Given the description of an element on the screen output the (x, y) to click on. 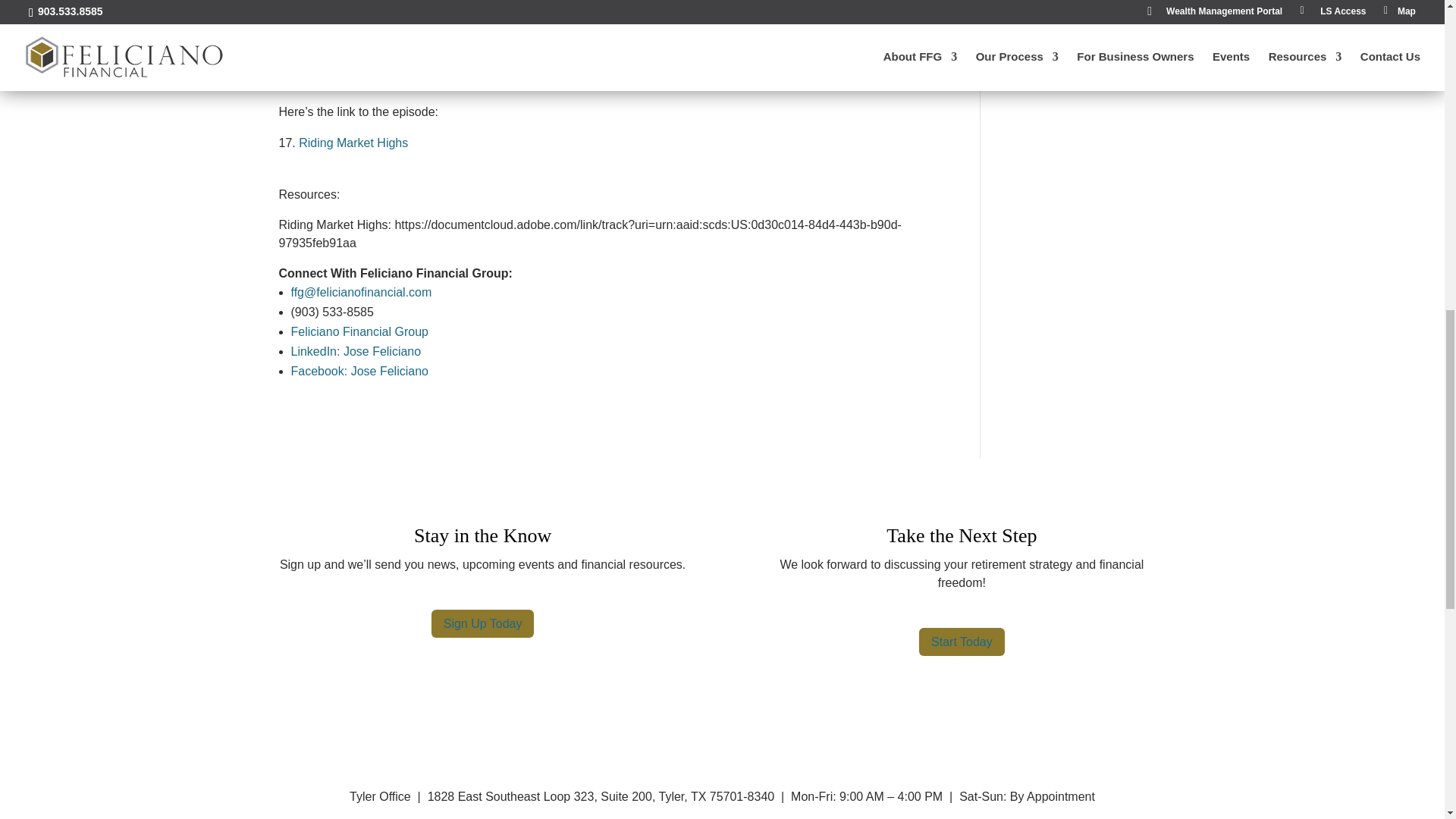
LinkedIn: Jose Feliciano (356, 350)
Riding Market Highs (352, 142)
Feliciano Financial Group (359, 331)
Facebook: Jose Feliciano (359, 370)
